Given the description of an element on the screen output the (x, y) to click on. 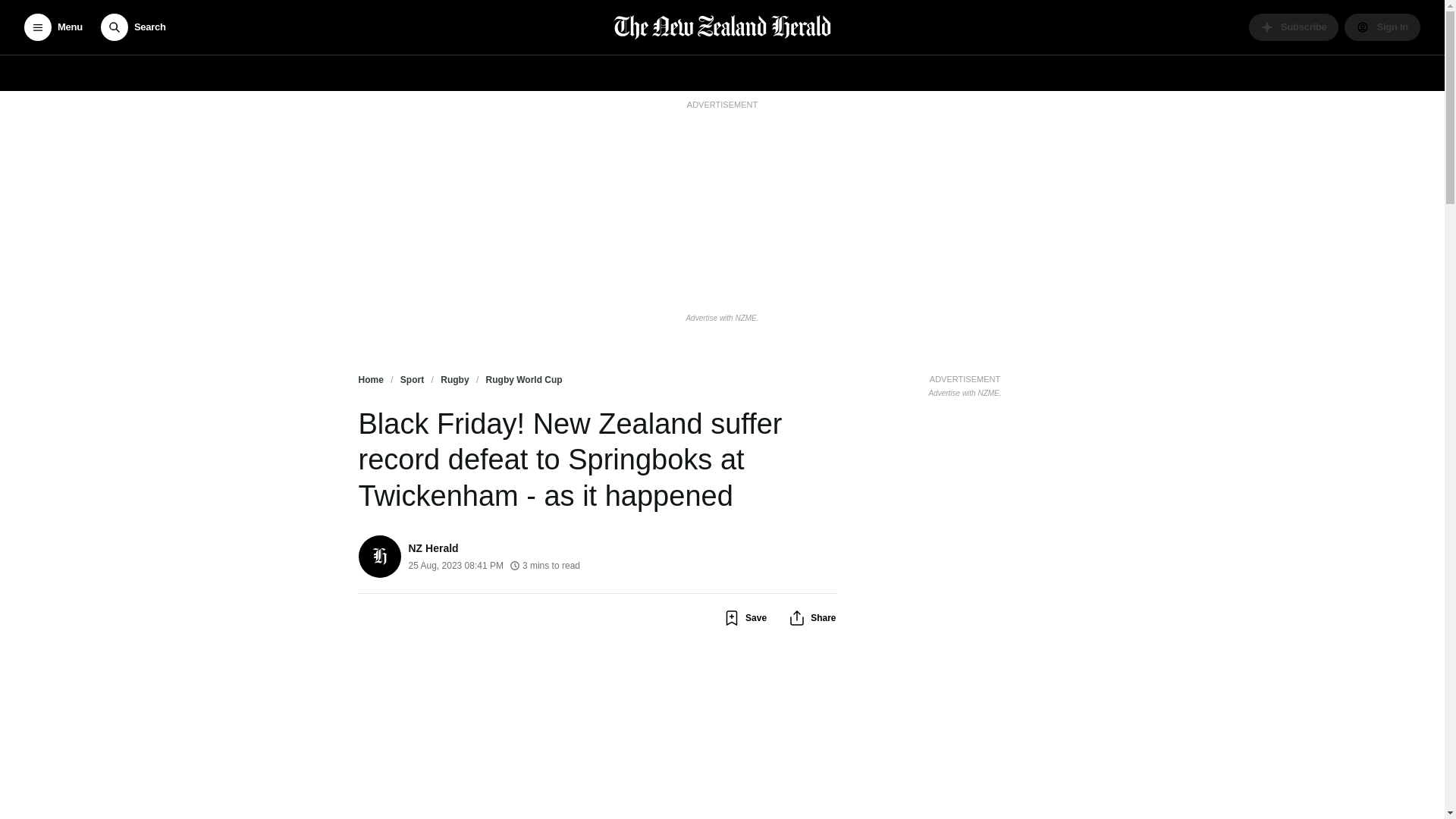
Manage your account (1382, 26)
Sign In (1382, 26)
Menu (53, 26)
Search (132, 26)
Subscribe (1294, 26)
